Given the description of an element on the screen output the (x, y) to click on. 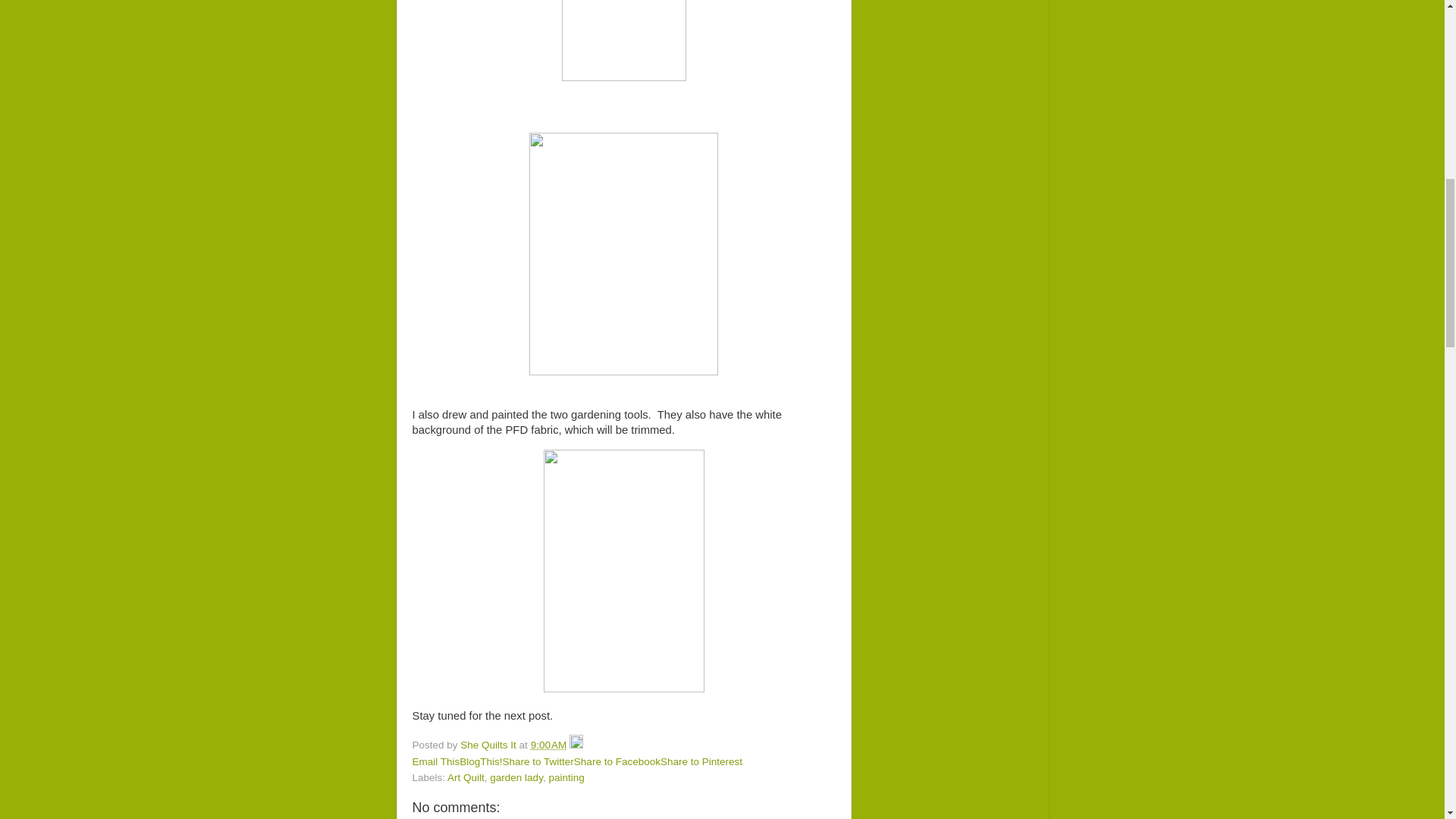
BlogThis! (481, 761)
garden lady (516, 777)
Art Quilt (465, 777)
author profile (489, 745)
She Quilts It (489, 745)
Share to Pinterest (701, 761)
Share to Twitter (537, 761)
Share to Pinterest (701, 761)
Share to Facebook (617, 761)
Email This (436, 761)
BlogThis! (481, 761)
Share to Facebook (617, 761)
Share to Twitter (537, 761)
painting (565, 777)
